Given the description of an element on the screen output the (x, y) to click on. 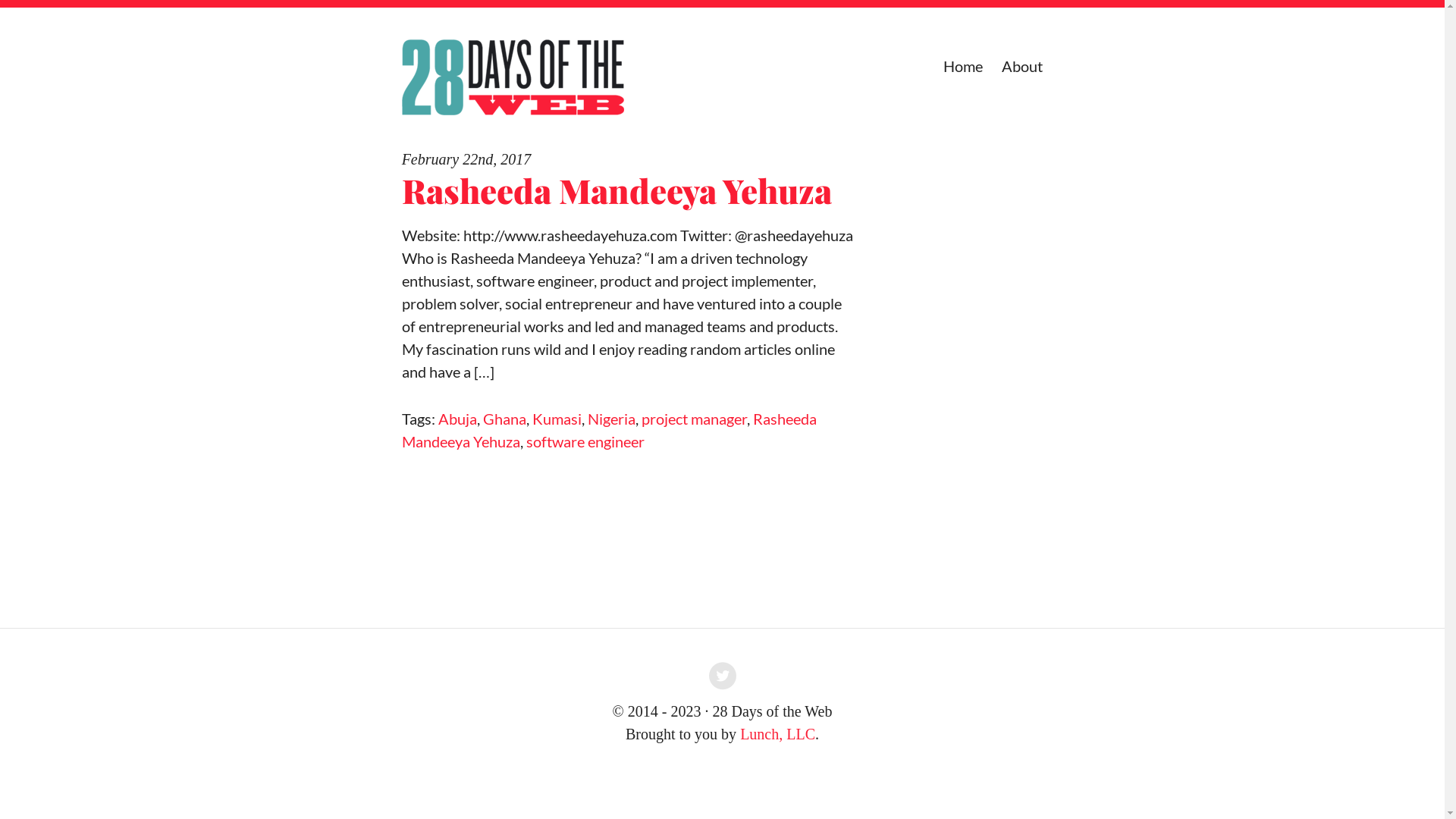
Kumasi Element type: text (556, 418)
About Element type: text (1021, 65)
Twitter Element type: hover (722, 678)
Lunch, LLC Element type: text (777, 733)
Abuja Element type: text (457, 418)
Rasheeda Mandeeya Yehuza Element type: text (608, 429)
Nigeria Element type: text (611, 418)
Rasheeda Mandeeya Yehuza Element type: text (616, 189)
Home Element type: text (962, 65)
project manager Element type: text (693, 418)
Ghana Element type: text (504, 418)
software engineer Element type: text (585, 441)
